Given the description of an element on the screen output the (x, y) to click on. 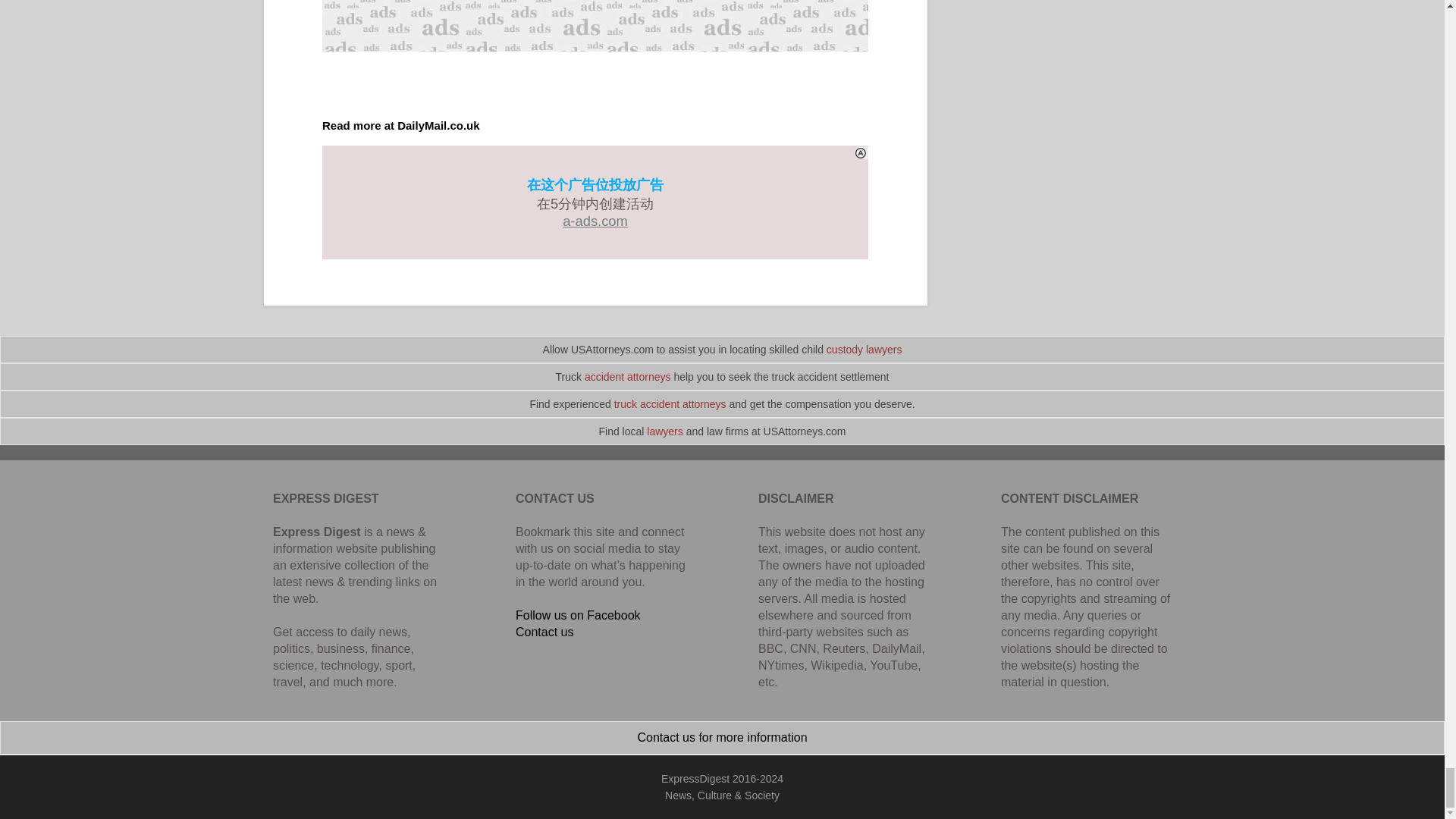
accident attorneys (628, 377)
lawyers (664, 431)
Read more at DailyMail.co.uk (400, 124)
truck accident attorneys (670, 404)
custody lawyers (864, 349)
